Given the description of an element on the screen output the (x, y) to click on. 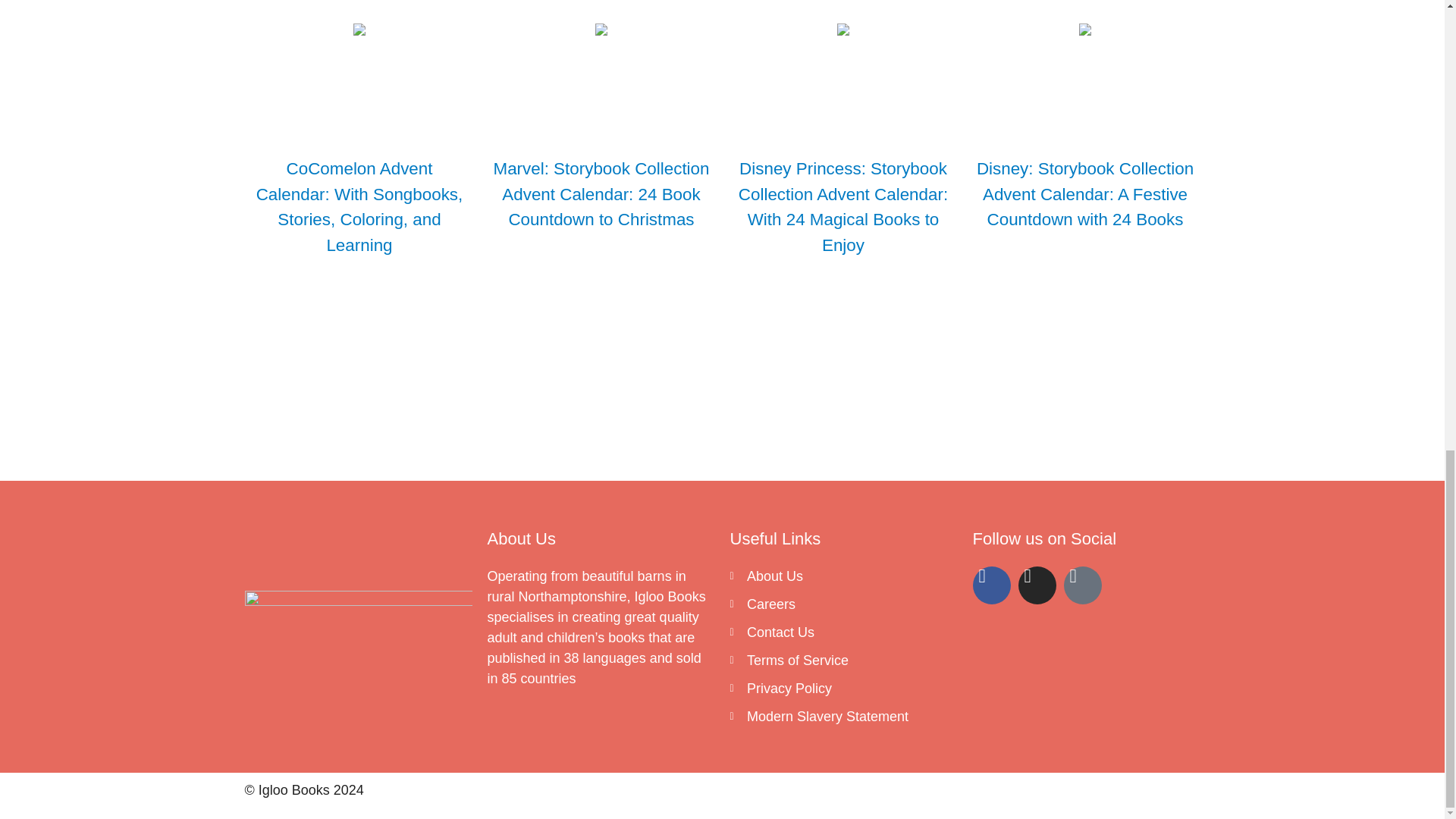
Contact Us (842, 632)
About Us (842, 576)
Modern Slavery Statement (842, 716)
Terms of Service (842, 660)
Careers (842, 604)
Privacy Policy (842, 688)
